Given the description of an element on the screen output the (x, y) to click on. 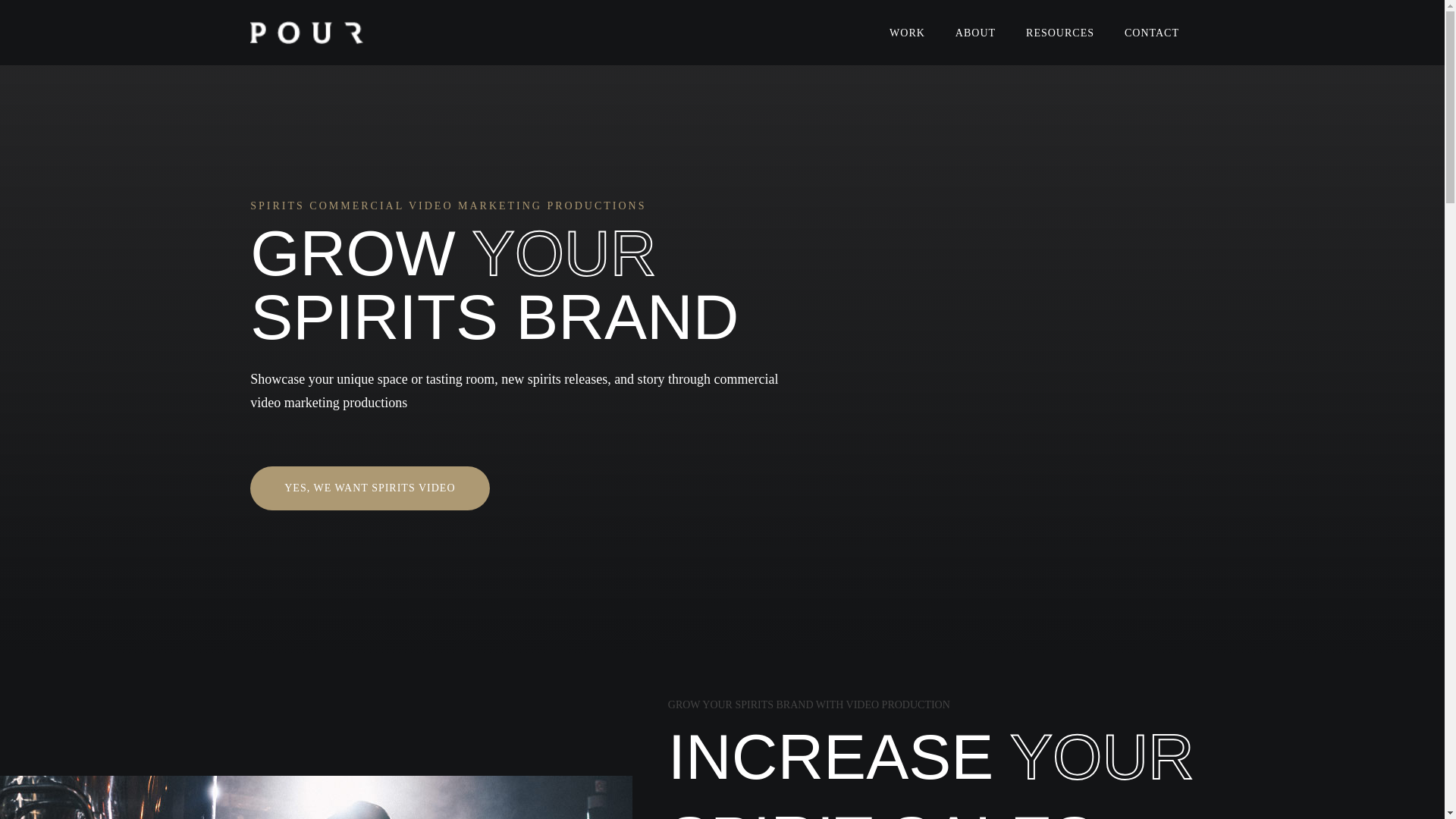
WORK (906, 32)
ABOUT (975, 32)
YES, WE WANT SPIRITS VIDEO (369, 487)
CONTACT (1151, 32)
RESOURCES (1060, 32)
